Given the description of an element on the screen output the (x, y) to click on. 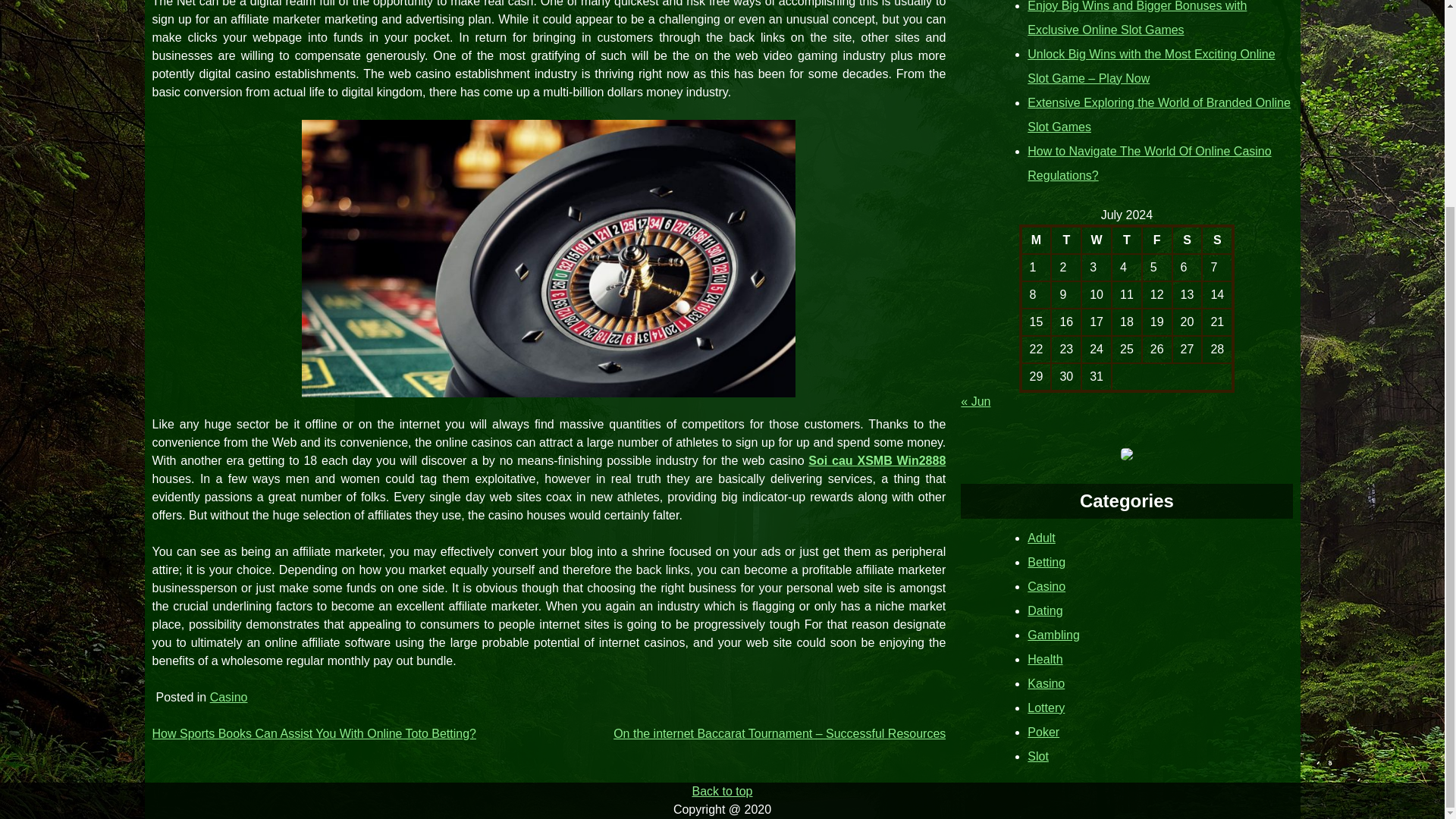
Sunday (1217, 239)
Casino (228, 697)
How to Navigate The World Of Online Casino Regulations? (1149, 162)
Friday (1156, 239)
Extensive Exploring the World of Branded Online Slot Games (1158, 114)
Back to top (721, 790)
Dating (1044, 610)
Gambling (1052, 634)
How Sports Books Can Assist You With Online Toto Betting? (313, 733)
Kasino (1045, 683)
Lottery (1045, 707)
Wednesday (1096, 239)
Saturday (1187, 239)
Tuesday (1066, 239)
